Given the description of an element on the screen output the (x, y) to click on. 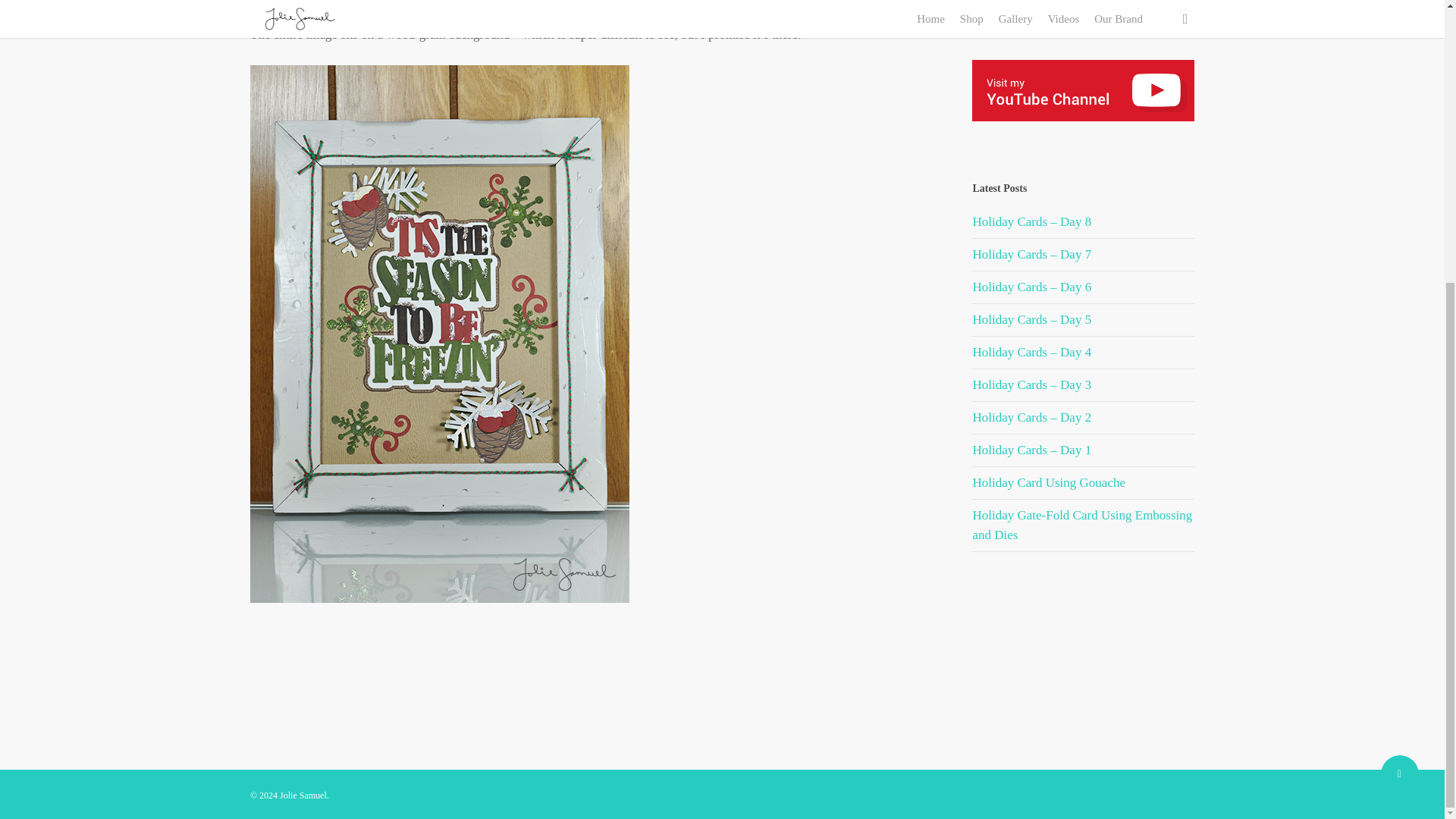
Holiday Gate-Fold Card Using Embossing and Dies (1082, 524)
Holiday Card Using Gouache (1048, 482)
